Given the description of an element on the screen output the (x, y) to click on. 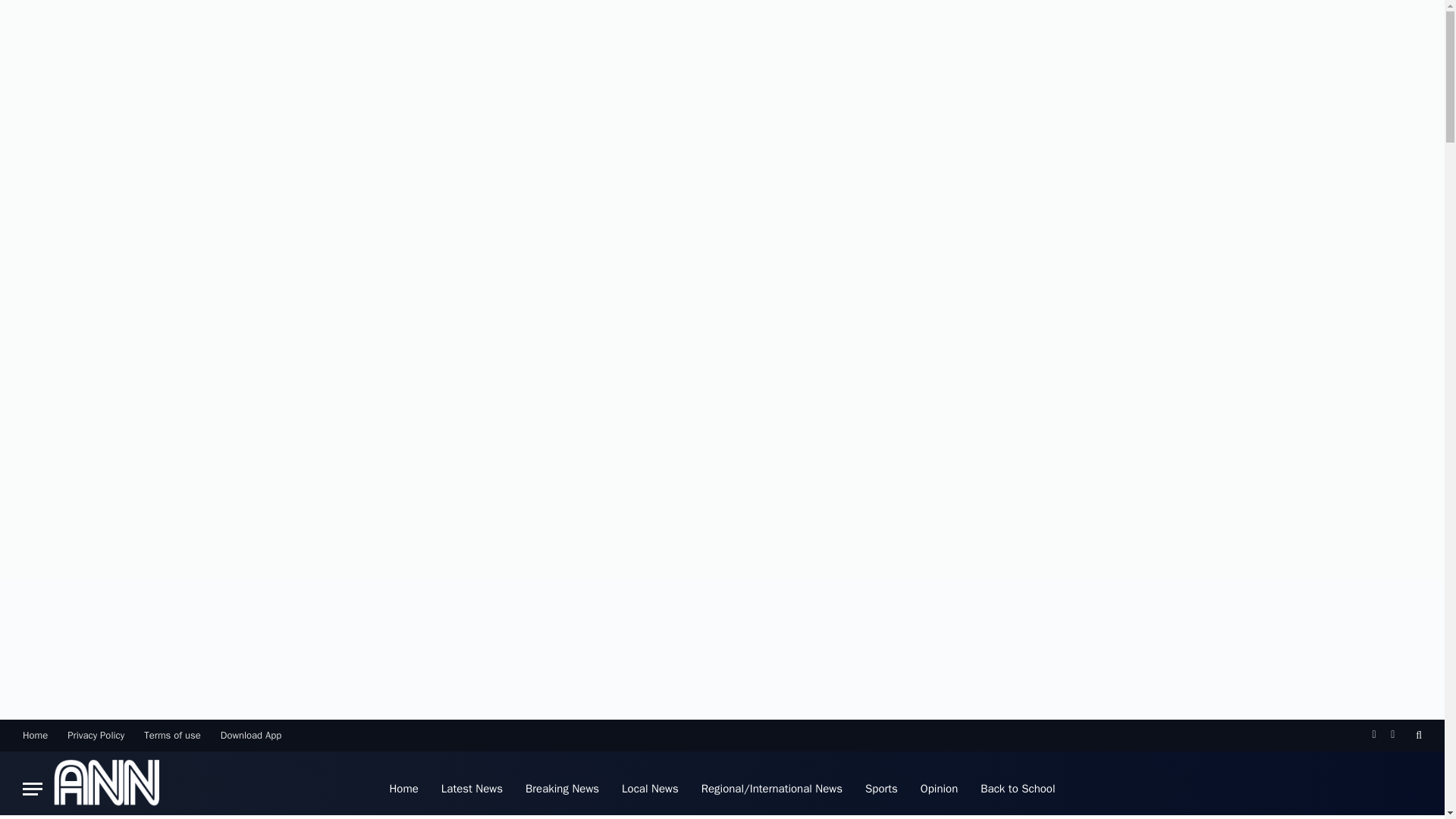
Search (1417, 735)
Asberth News Network (105, 785)
Back to School (1017, 785)
Sports (880, 785)
Breaking News (561, 785)
Facebook (1374, 735)
Latest News (471, 785)
Privacy Policy (95, 735)
Download App (251, 735)
Opinion (938, 785)
Terms of use (172, 735)
Instagram (1392, 735)
Local News (650, 785)
Home (35, 735)
Home (403, 785)
